Given the description of an element on the screen output the (x, y) to click on. 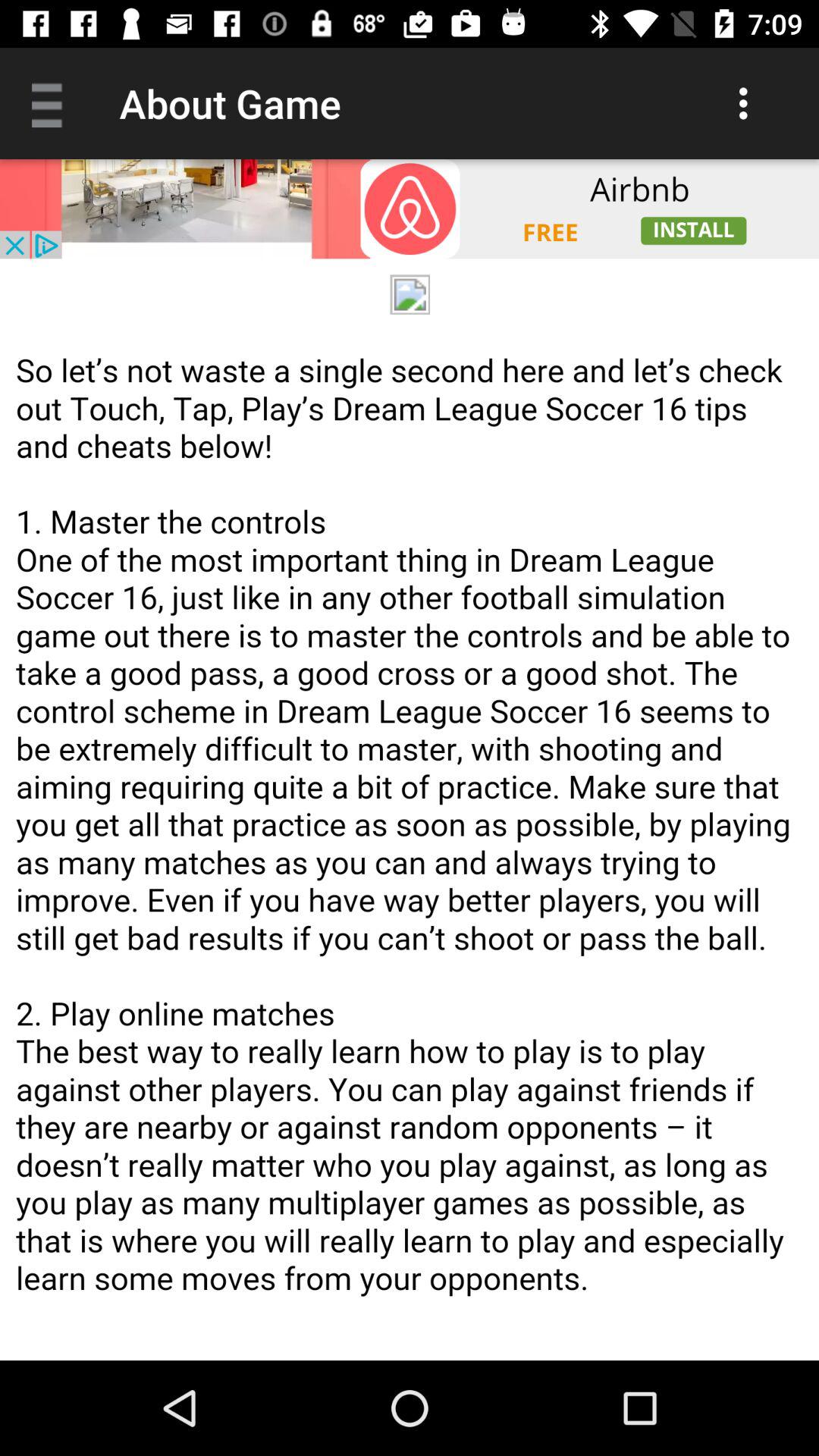
install app (409, 208)
